Given the description of an element on the screen output the (x, y) to click on. 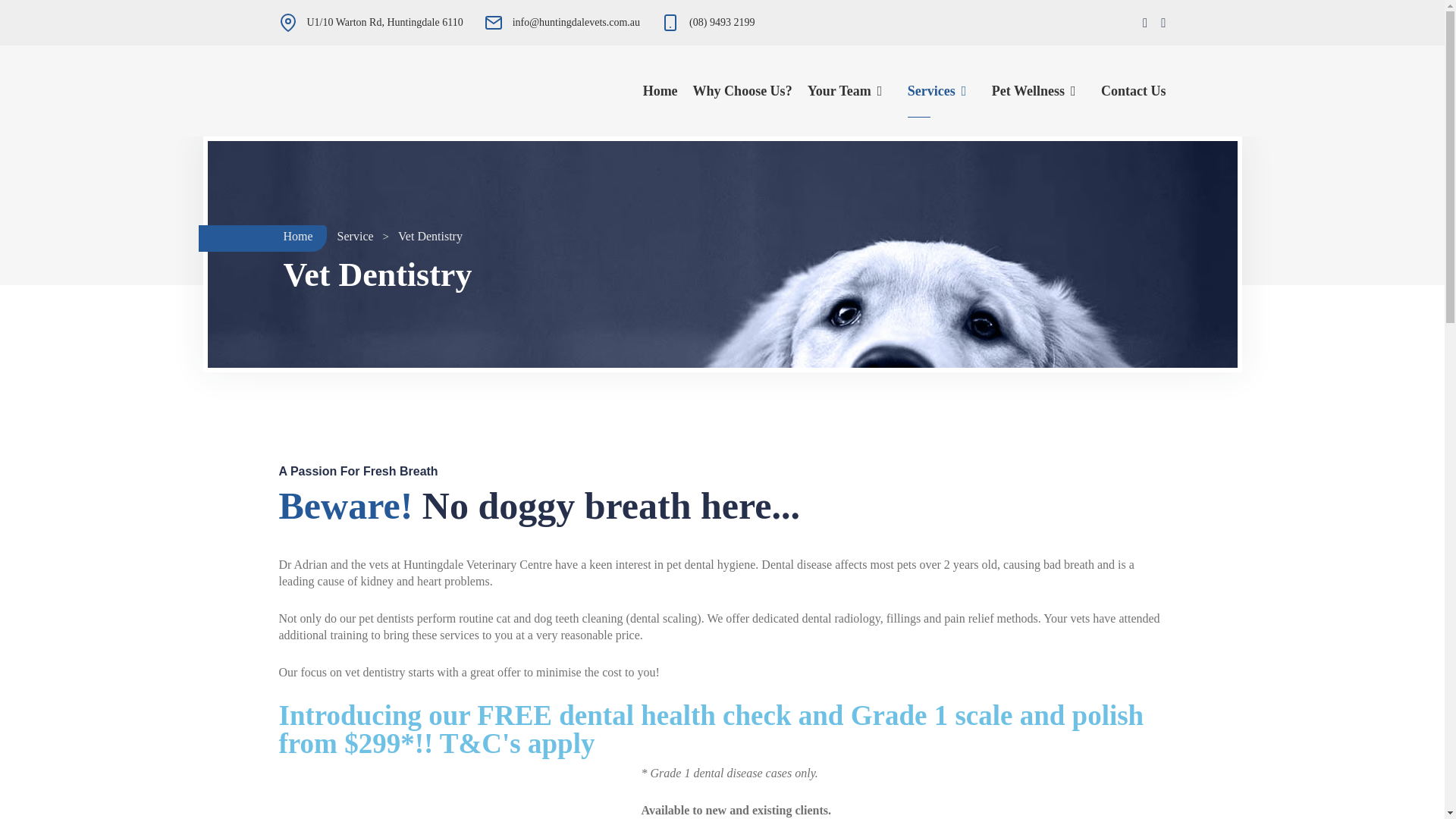
Huntingdale Veterinary Centre Element type: hover (348, 89)
Your Team Element type: text (839, 90)
Why Choose Us? Element type: text (742, 90)
Facebook Element type: hover (1144, 22)
Contact Us Element type: text (1133, 90)
Pet Wellness Element type: text (1027, 90)
Service Element type: text (355, 236)
Instagram Element type: hover (1160, 22)
Services Element type: text (931, 90)
(08) 9493 2199 Element type: text (721, 22)
Home Element type: text (298, 236)
info@huntingdalevets.com.au Element type: text (576, 22)
Home Element type: text (660, 90)
